Given the description of an element on the screen output the (x, y) to click on. 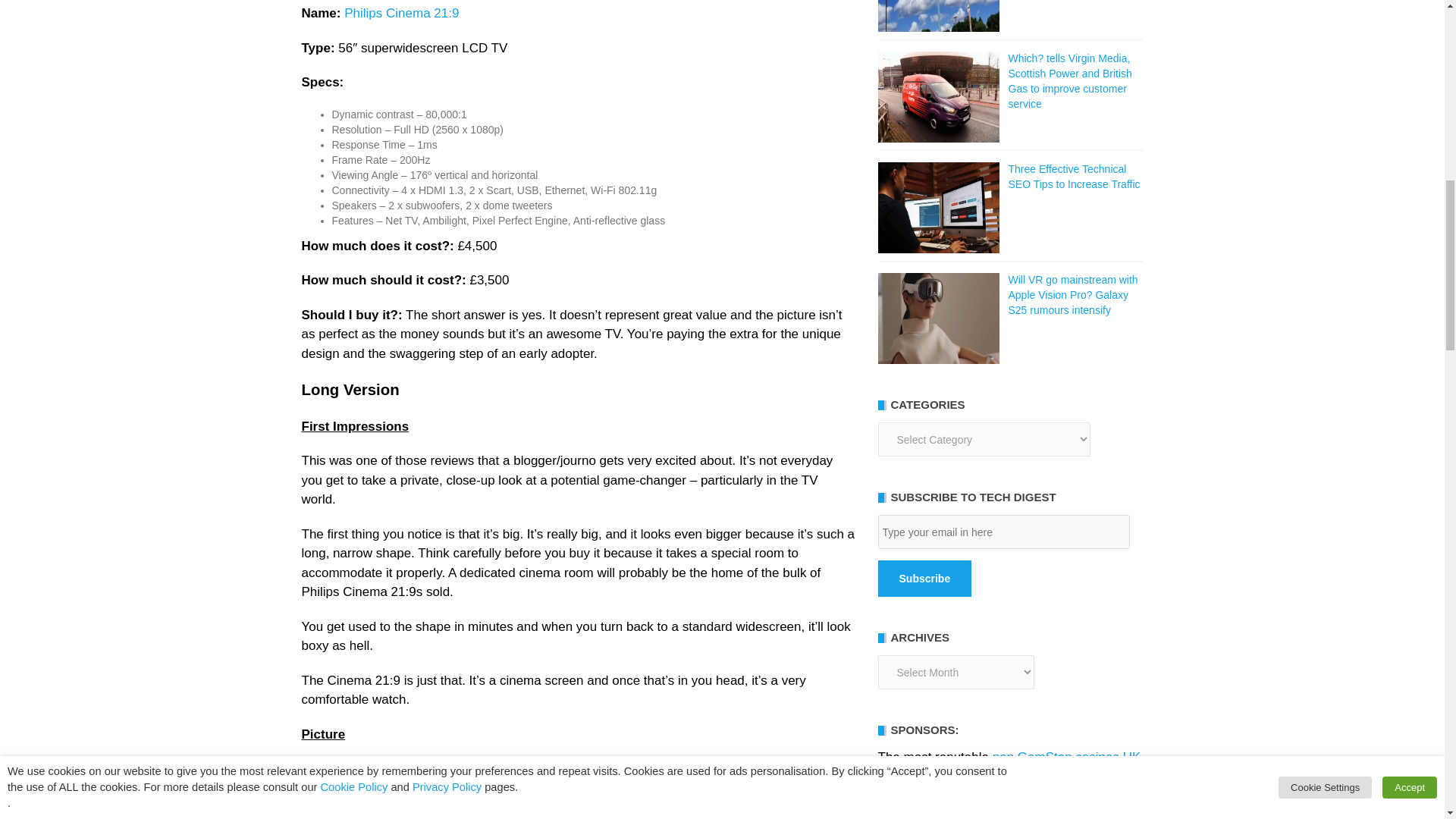
Type your email in here (1003, 531)
Type your email in here (1003, 531)
